Given the description of an element on the screen output the (x, y) to click on. 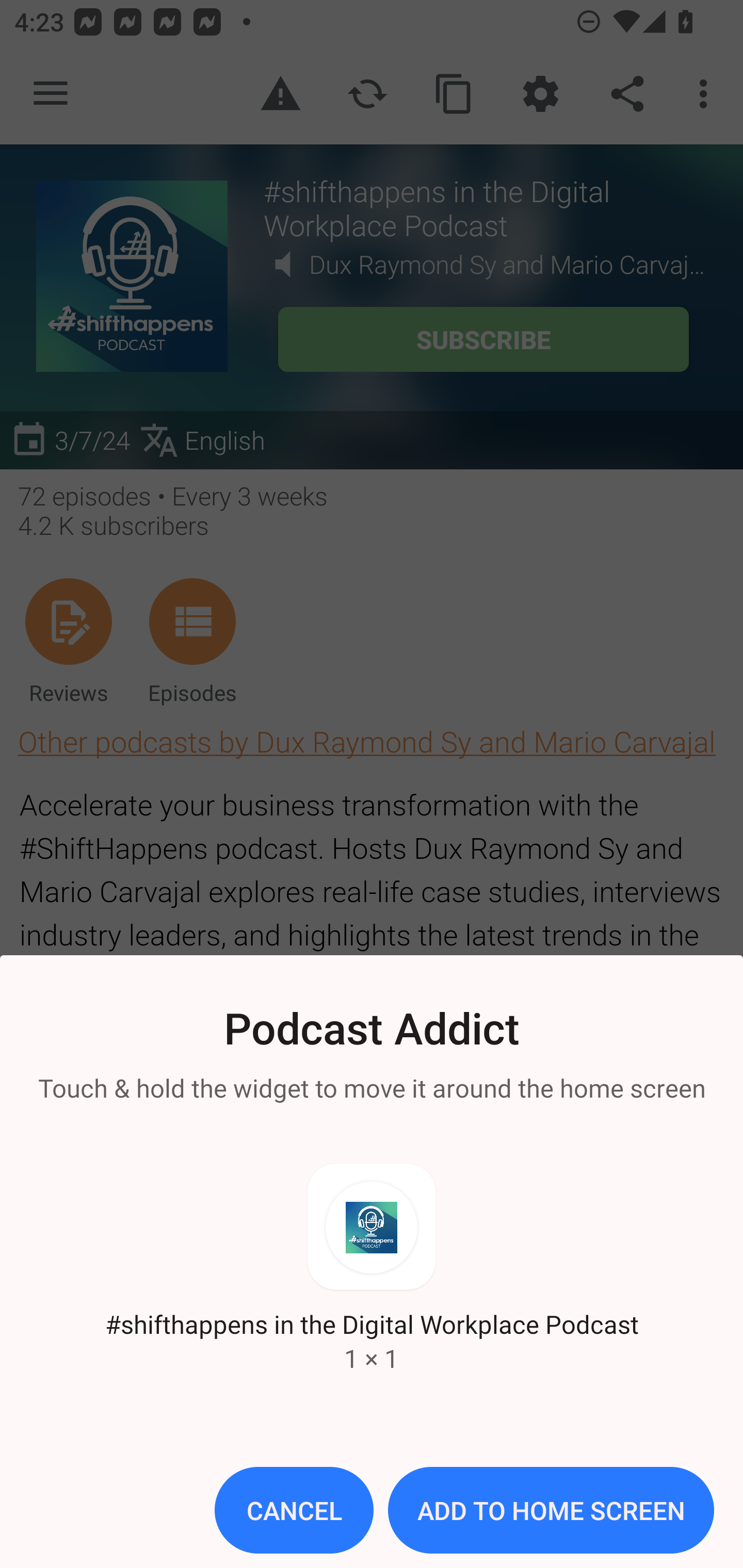
CANCEL (293, 1510)
ADD TO HOME SCREEN (550, 1510)
